Given the description of an element on the screen output the (x, y) to click on. 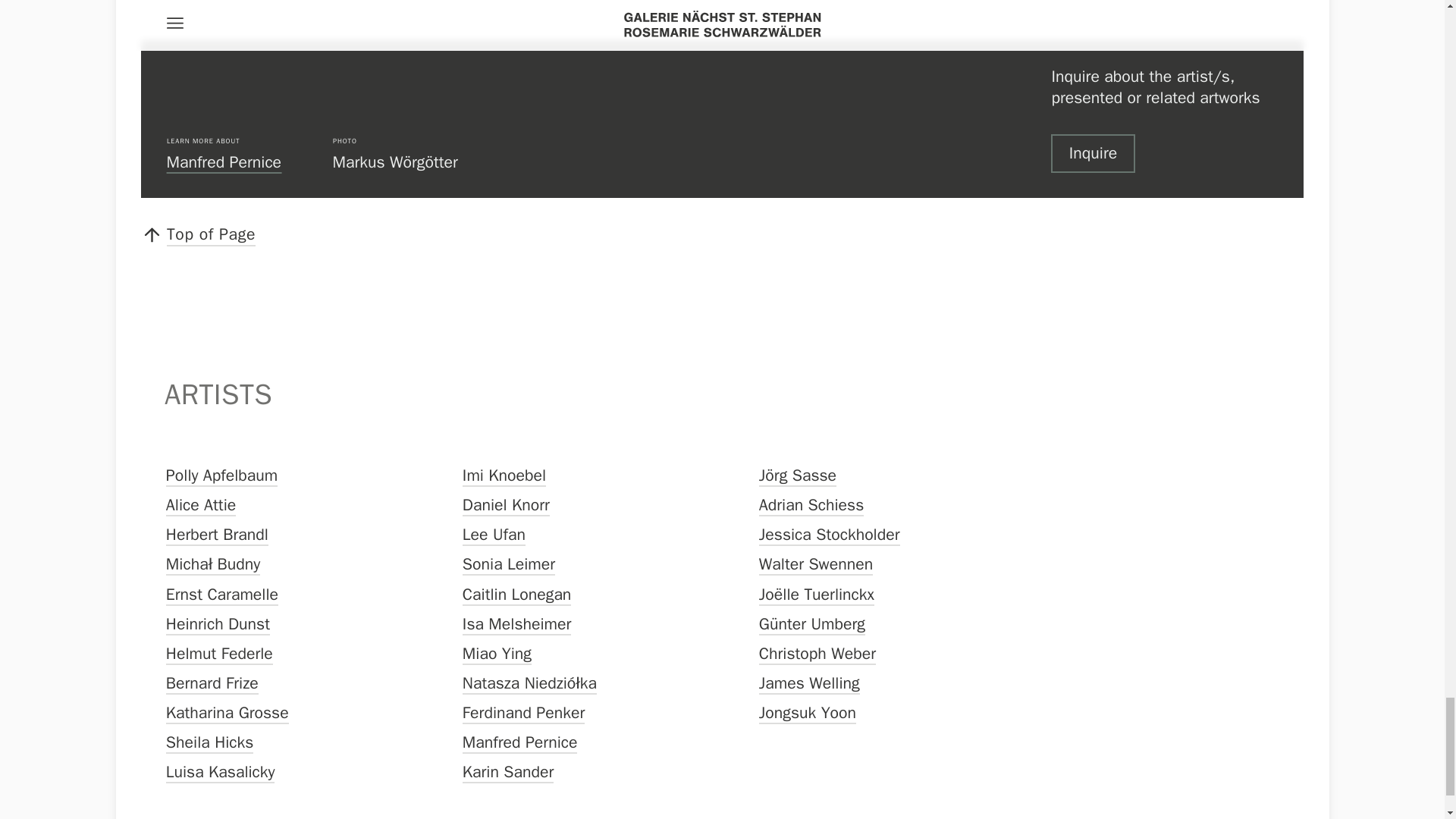
Sheila Hicks (209, 742)
Katharina Grosse (226, 712)
Miao Ying (497, 653)
Alice Attie (200, 505)
Manfred Pernice (520, 742)
Herbert Brandl (216, 535)
Polly Apfelbaum (221, 475)
Lee Ufan (494, 535)
Sonia Leimer (508, 564)
Helmut Federle (219, 653)
